Given the description of an element on the screen output the (x, y) to click on. 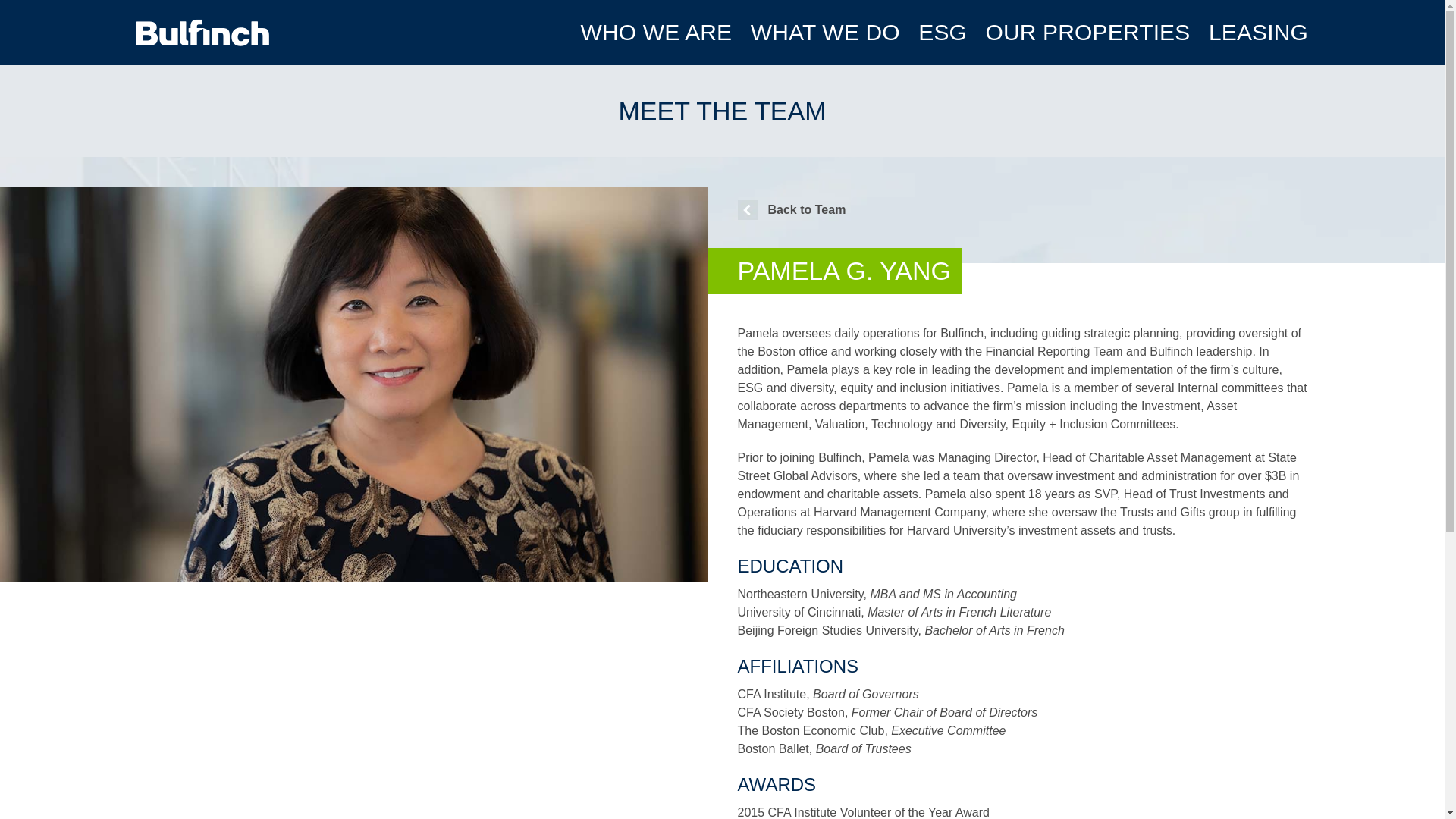
Back to Team (790, 209)
WHAT WE DO (825, 32)
ESG (942, 32)
LEASING (1257, 32)
WHO WE ARE (655, 32)
OUR PROPERTIES (1088, 32)
